Given the description of an element on the screen output the (x, y) to click on. 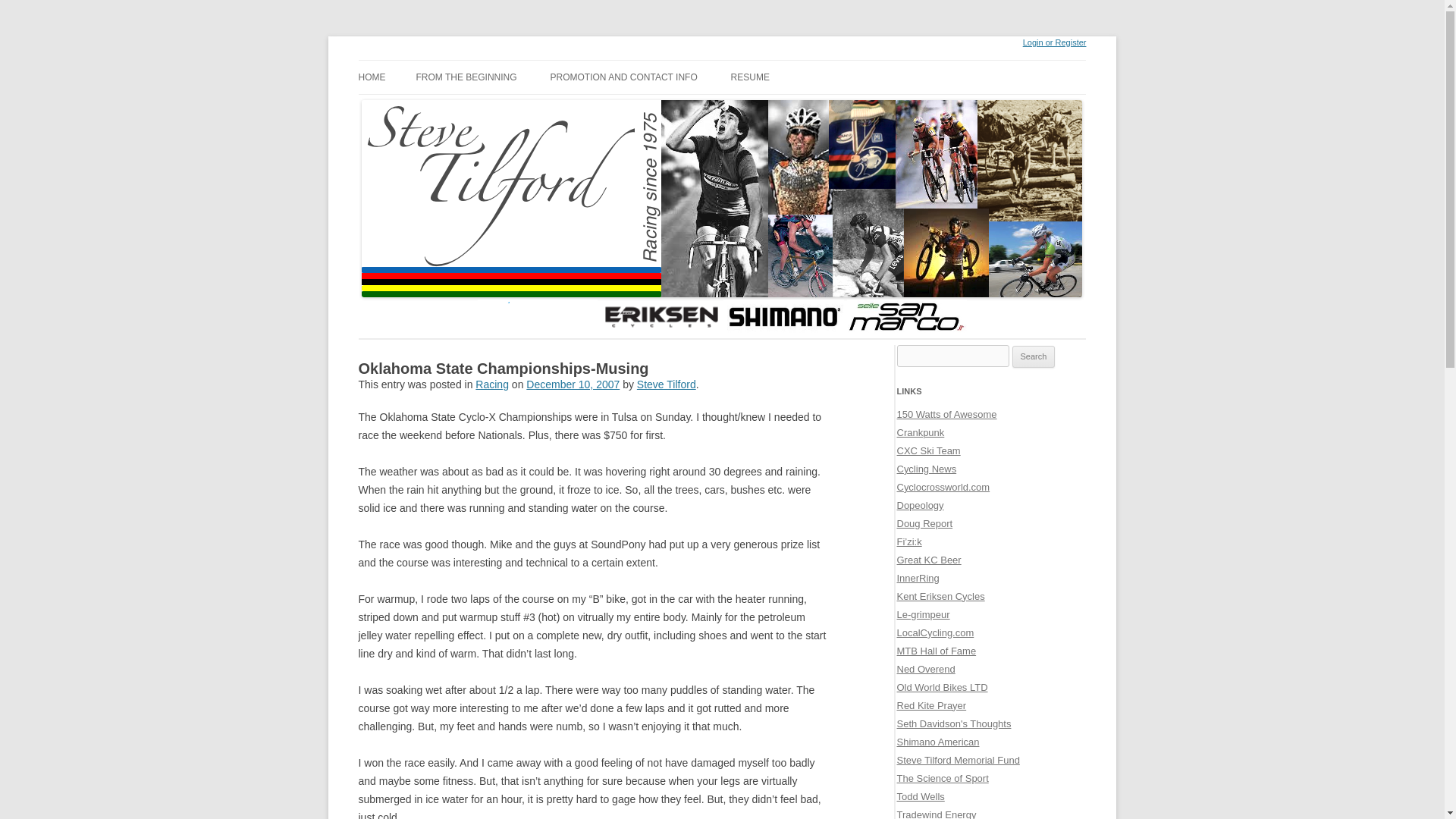
Seth Davidson's Thoughts (953, 723)
Login or Register (1054, 42)
Old World Bikes LTD (941, 686)
December 10, 2007 (572, 384)
Skip to content (375, 62)
CXC Ski Team (927, 450)
Great KC Beer (928, 559)
Vintage motorcycle parts, service and restoration (941, 686)
Crankpunk (919, 432)
Search (1033, 356)
